Given the description of an element on the screen output the (x, y) to click on. 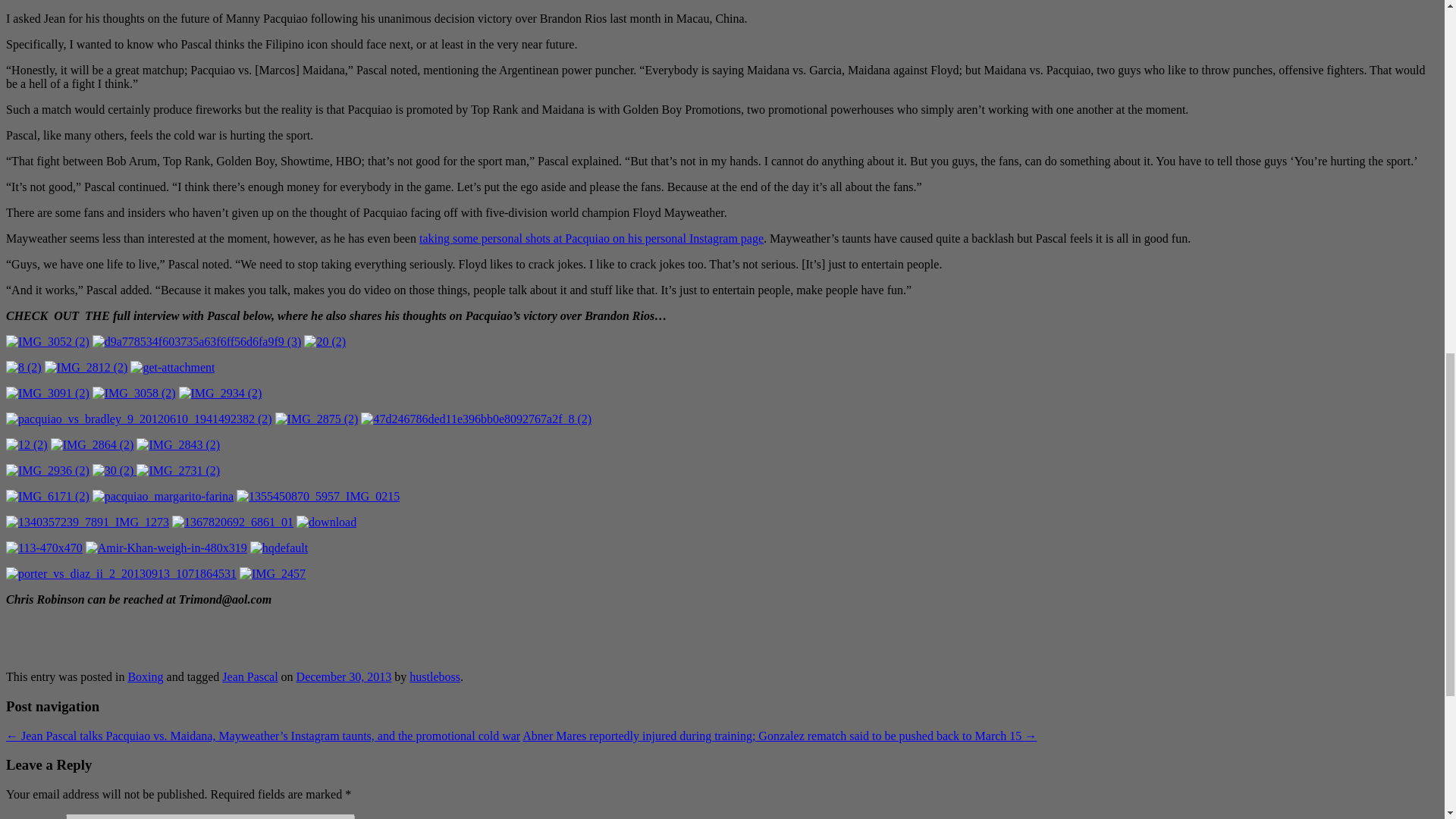
View all posts by hustleboss (434, 676)
12:36 (344, 676)
